Given the description of an element on the screen output the (x, y) to click on. 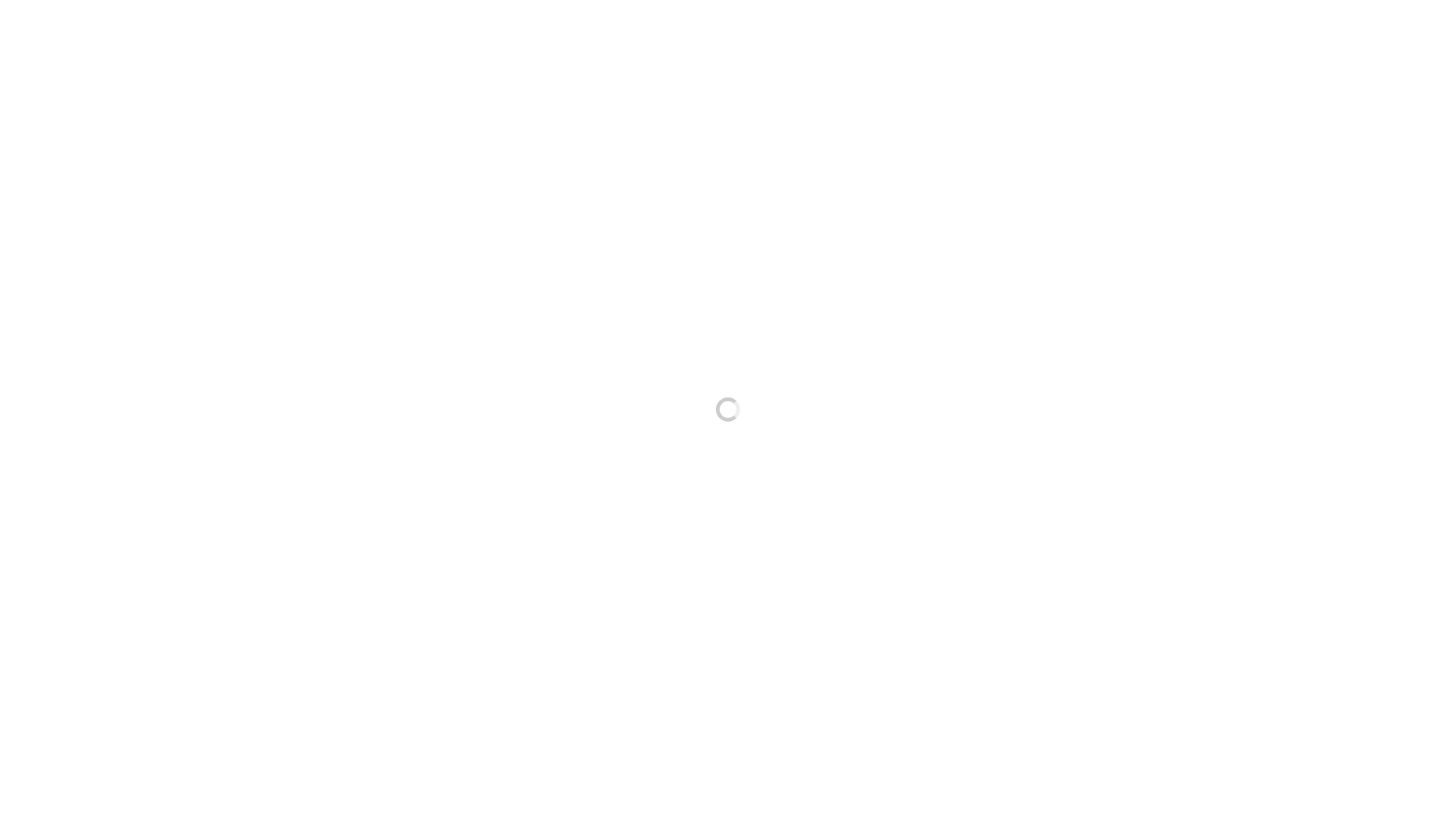
Search Element type: text (1190, 332)
